Given the description of an element on the screen output the (x, y) to click on. 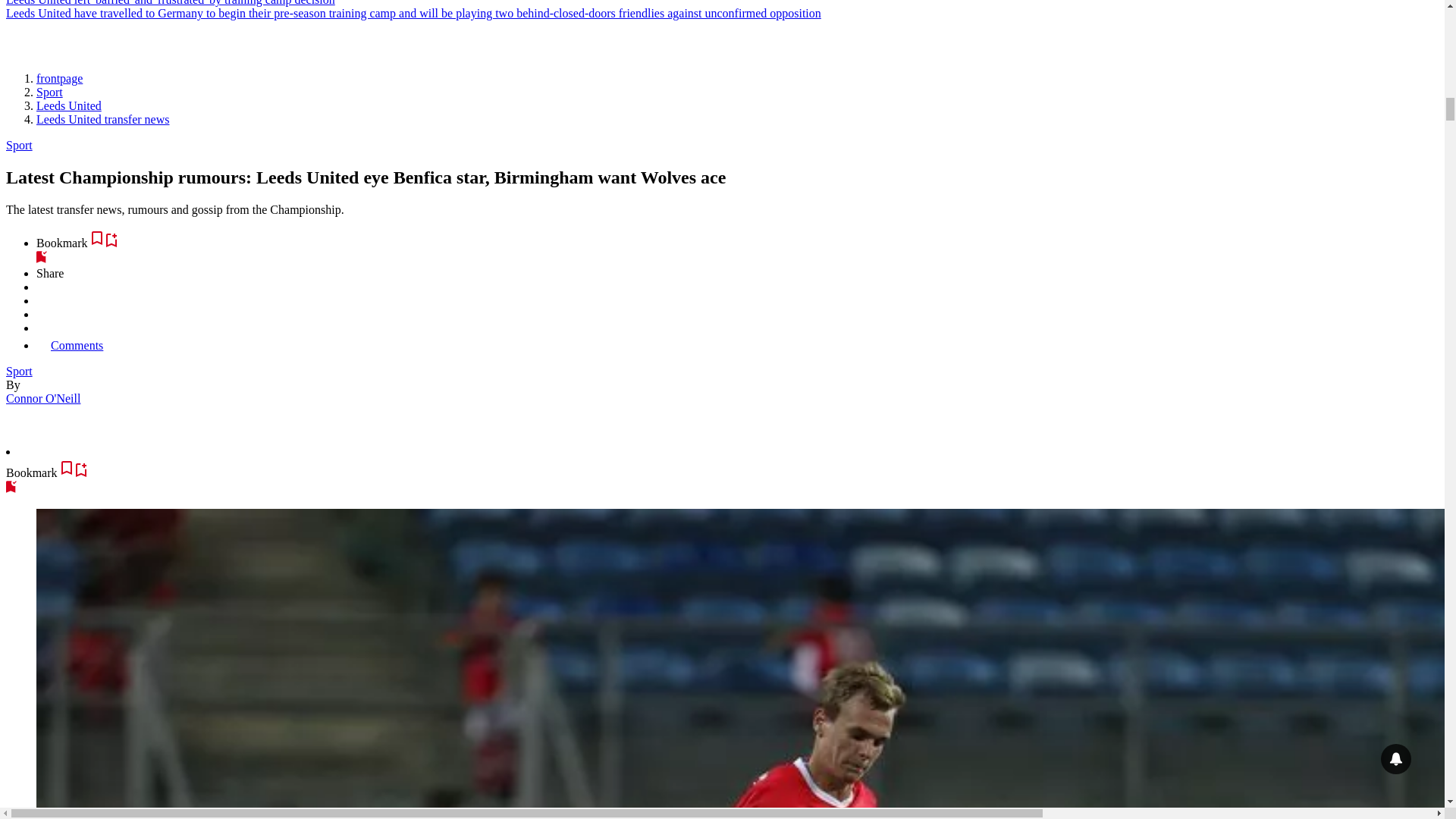
Comments (69, 345)
